Given the description of an element on the screen output the (x, y) to click on. 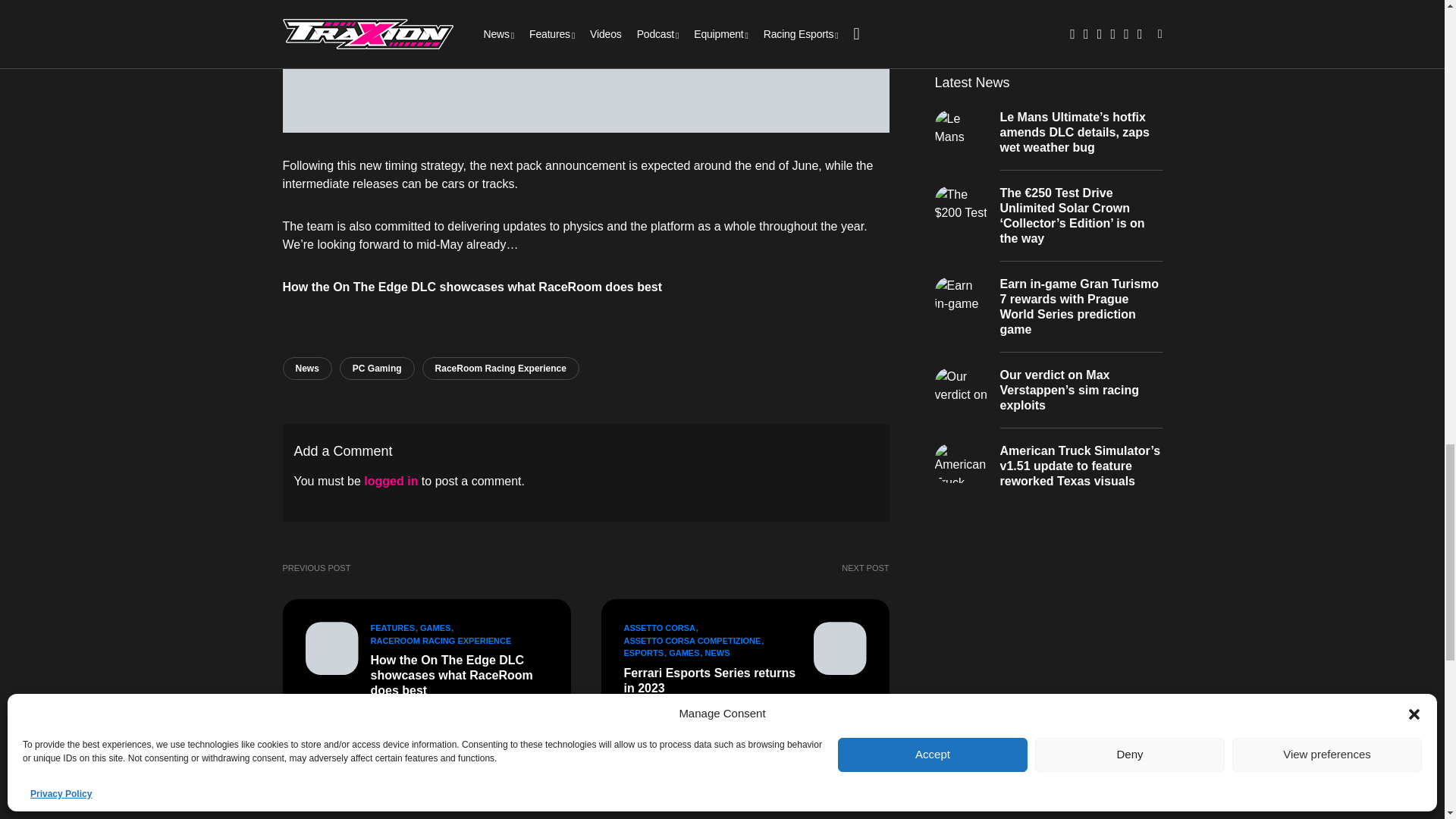
View all posts by Thomas Harrison-Lord (422, 711)
View all posts by Justin Melillo (656, 708)
